Given the description of an element on the screen output the (x, y) to click on. 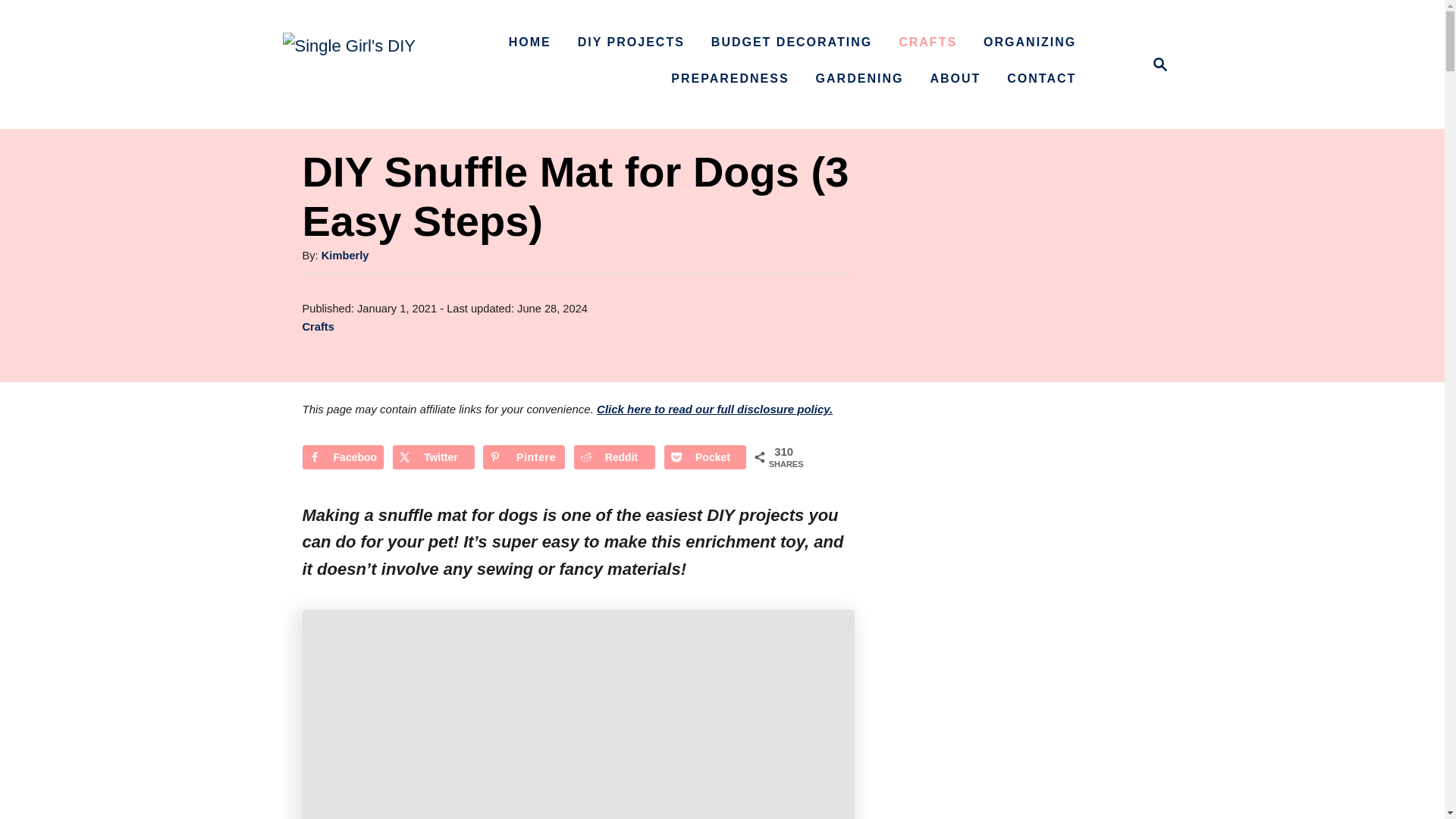
Share on Reddit (614, 457)
Kimberly (345, 255)
Pinterest (523, 457)
Share on Pocket (704, 457)
Policies (714, 408)
PREPAREDNESS (729, 78)
Facebook (342, 457)
Magnifying Glass (1160, 64)
Single Girl's DIY (1155, 64)
